Given the description of an element on the screen output the (x, y) to click on. 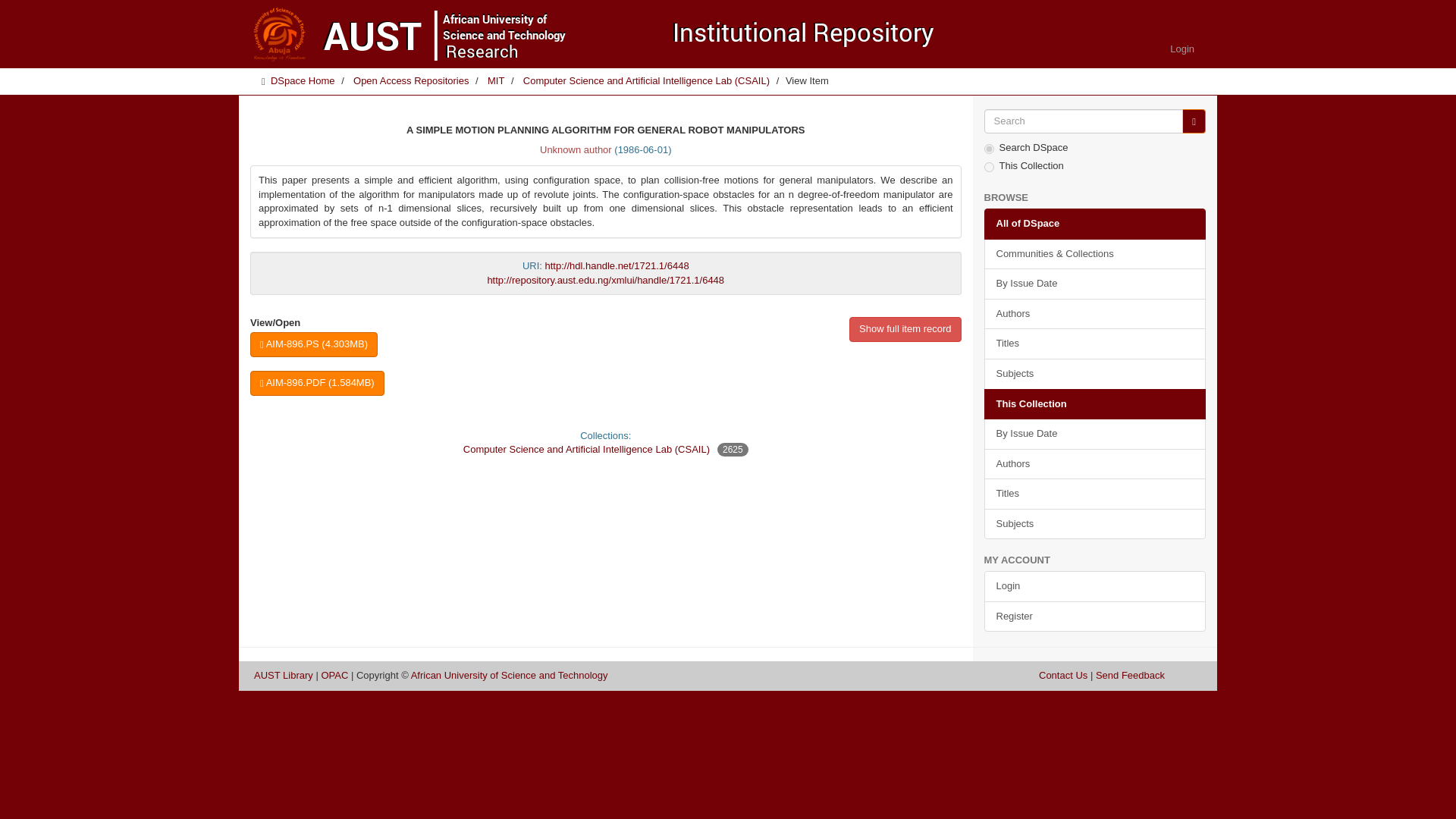
By Issue Date (1095, 433)
MIT (495, 80)
Authors (1095, 463)
OPAC (333, 674)
Go (1193, 121)
Send Feedback (1130, 674)
Open Access Repositories (410, 80)
All of DSpace (1095, 223)
DSpace Home (302, 80)
Subjects (1095, 523)
